Given the description of an element on the screen output the (x, y) to click on. 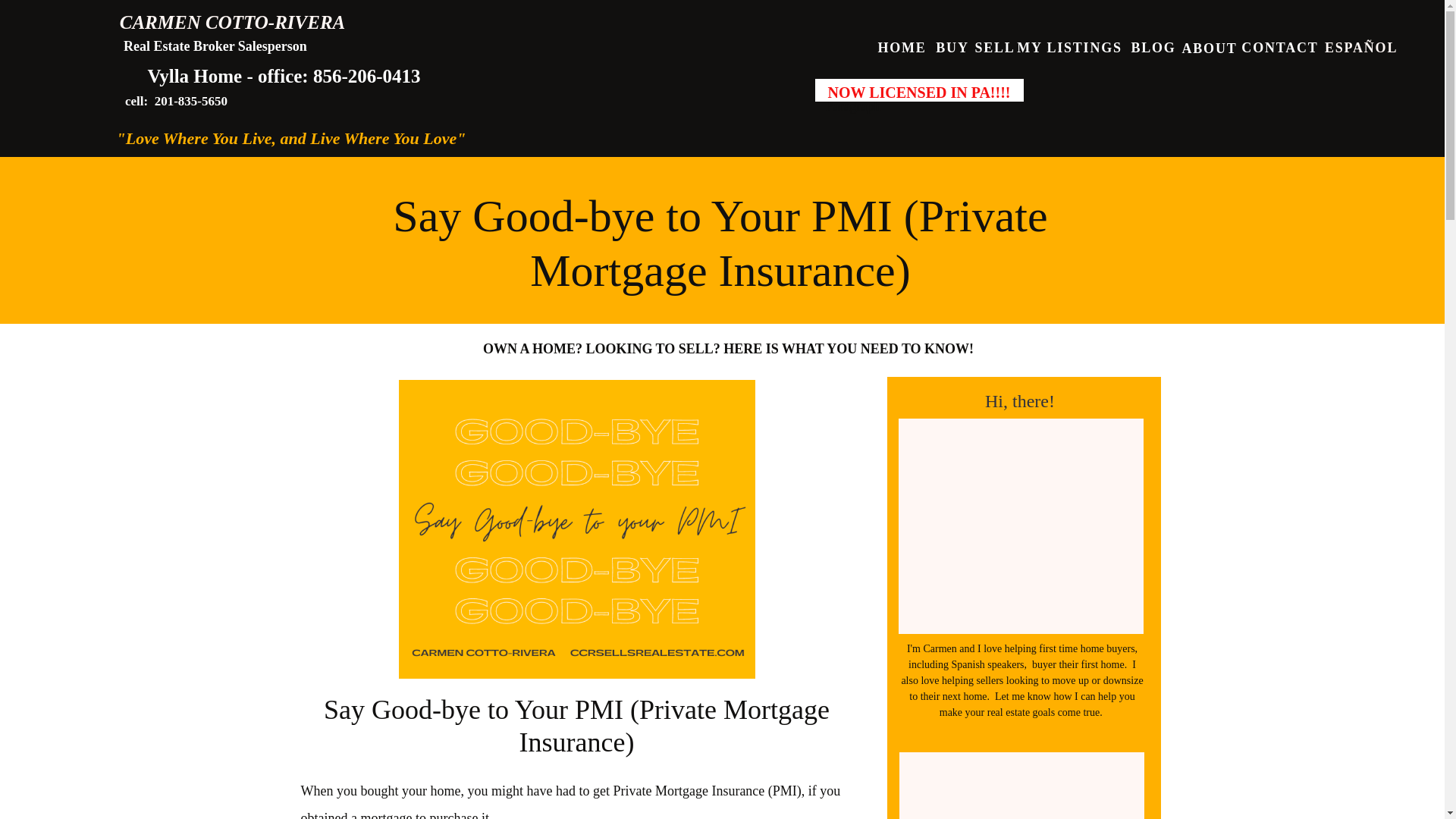
CONTACT (1279, 45)
CARMEN COTTO-RIVERA (232, 22)
OWN A HOME? LOOKING TO SELL? HERE IS WHAT YOU NEED TO KNOW! (728, 348)
SELL (995, 45)
MY LISTINGS (1069, 45)
BUY (951, 45)
ABOUT (1208, 46)
BLOG (1152, 45)
HOME (901, 45)
